Given the description of an element on the screen output the (x, y) to click on. 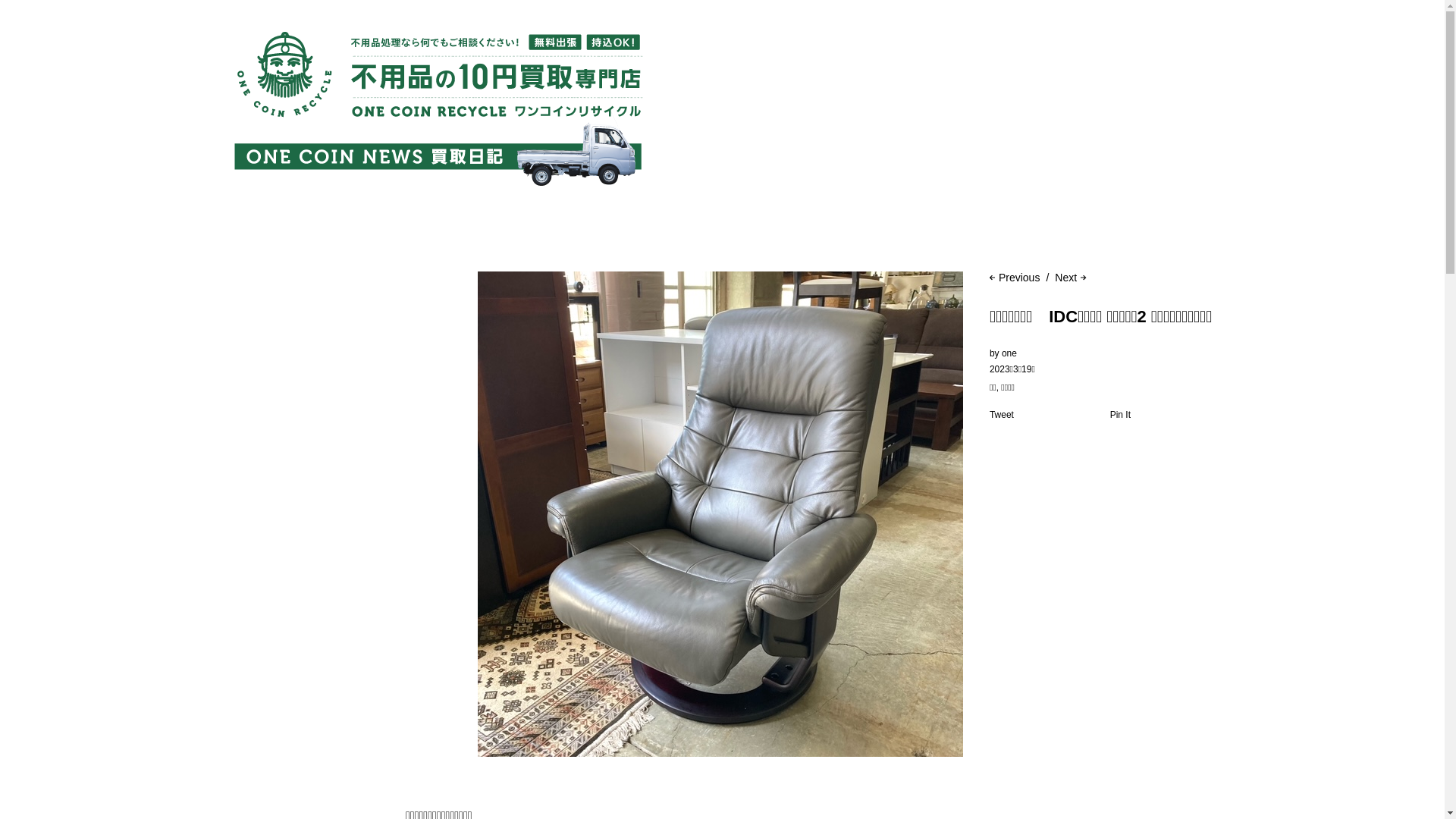
one Element type: text (1008, 353)
Pin It Element type: text (1120, 414)
Next Element type: text (1067, 277)
Tweet Element type: text (1001, 414)
Previous Element type: text (1014, 277)
